Given the description of an element on the screen output the (x, y) to click on. 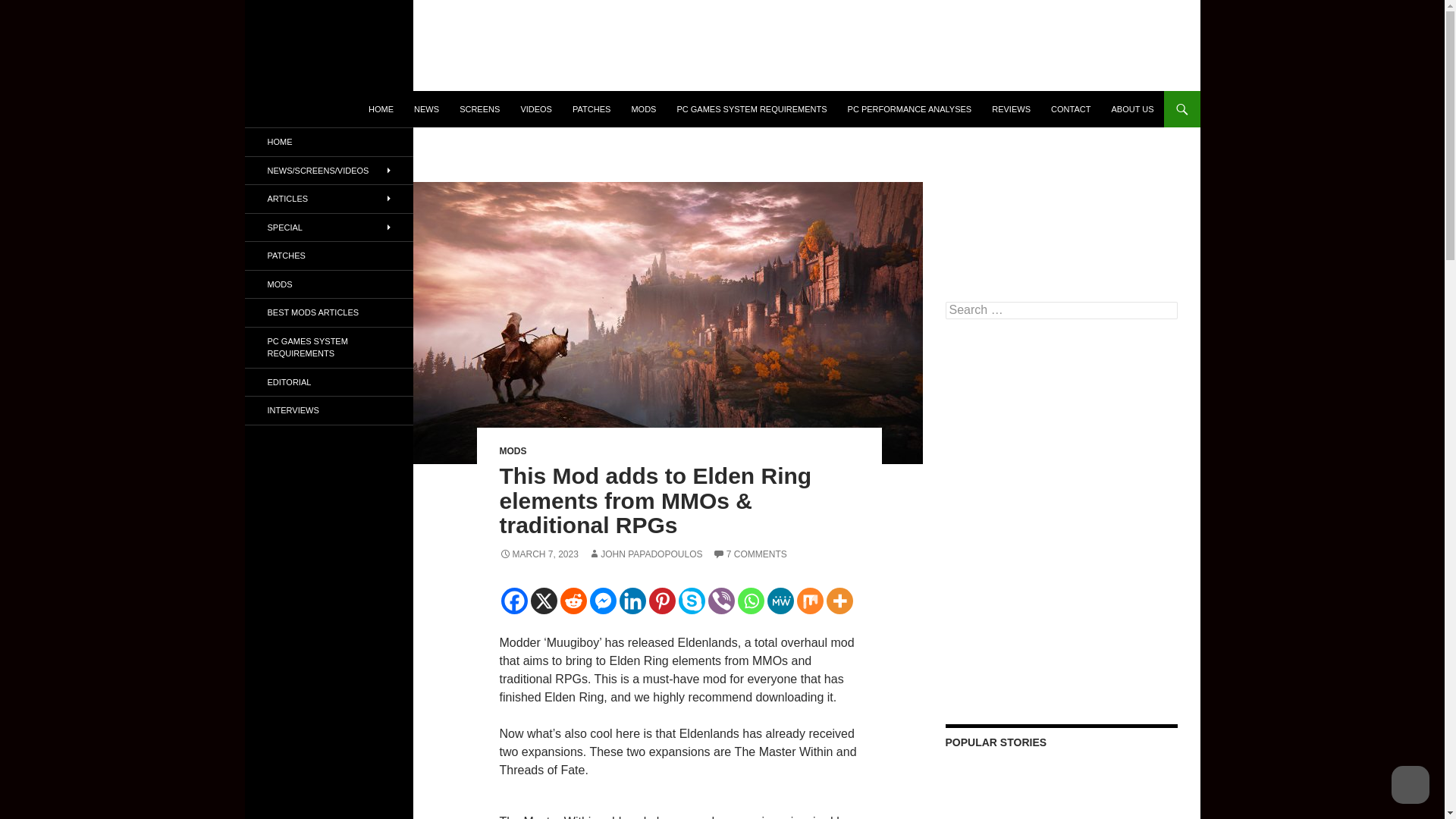
VIDEOS (535, 108)
SCREENS (478, 108)
REVIEWS (1010, 108)
PC PERFORMANCE ANALYSES (909, 108)
Mix (809, 601)
JOHN PAPADOPOULOS (644, 553)
More (840, 601)
7 COMMENTS (750, 553)
MARCH 7, 2023 (538, 553)
ABOUT US (1131, 108)
HOME (381, 108)
Reddit (572, 601)
PC GAMES SYSTEM REQUIREMENTS (750, 108)
Whatsapp (749, 601)
CONTACT (1070, 108)
